Given the description of an element on the screen output the (x, y) to click on. 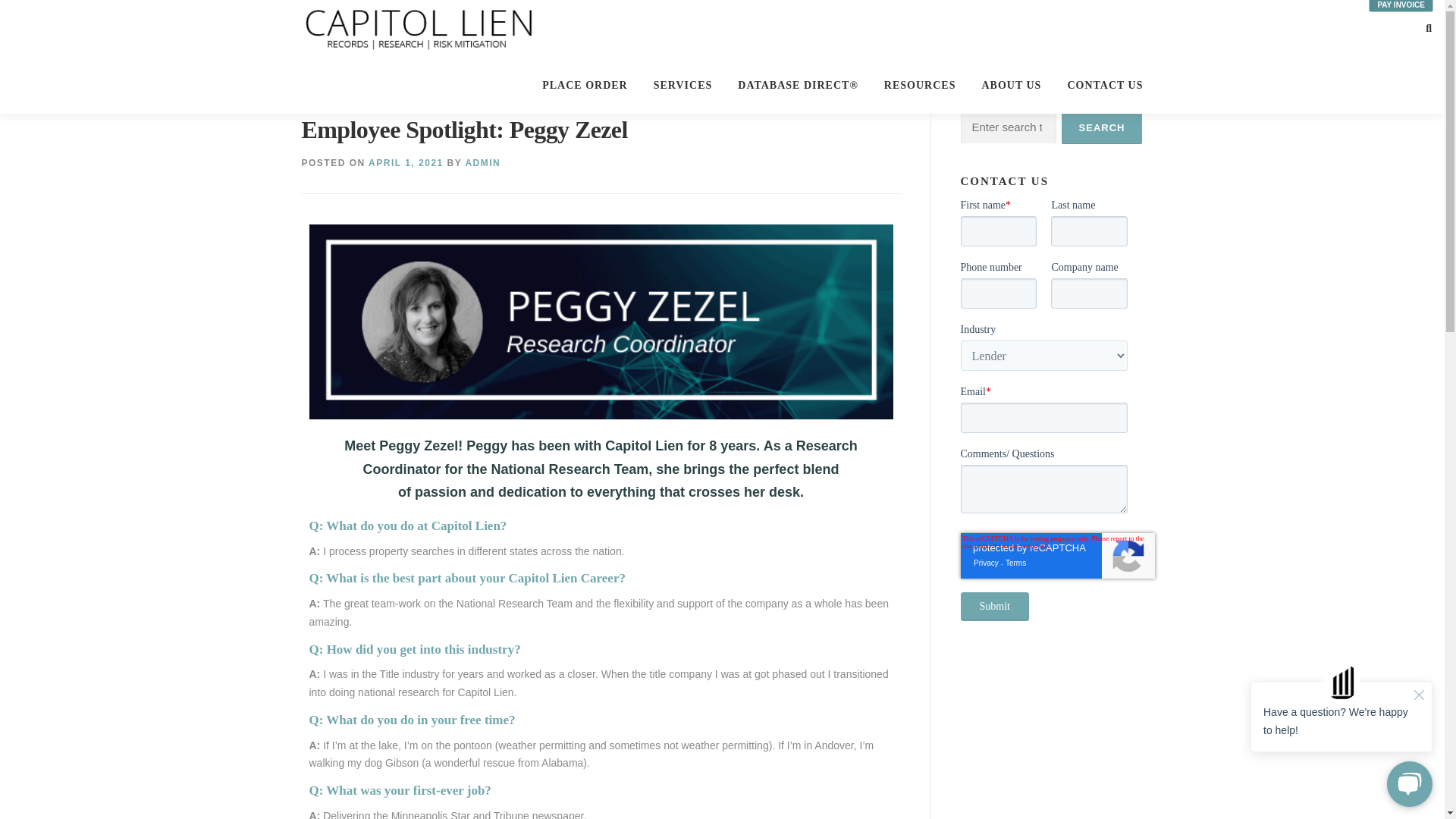
Search (1101, 127)
RESOURCES (919, 84)
reCAPTCHA (1056, 555)
SERVICES (682, 84)
Submit (993, 606)
PAY INVOICE (1400, 6)
PLACE ORDER (584, 84)
Search (1101, 127)
